Given the description of an element on the screen output the (x, y) to click on. 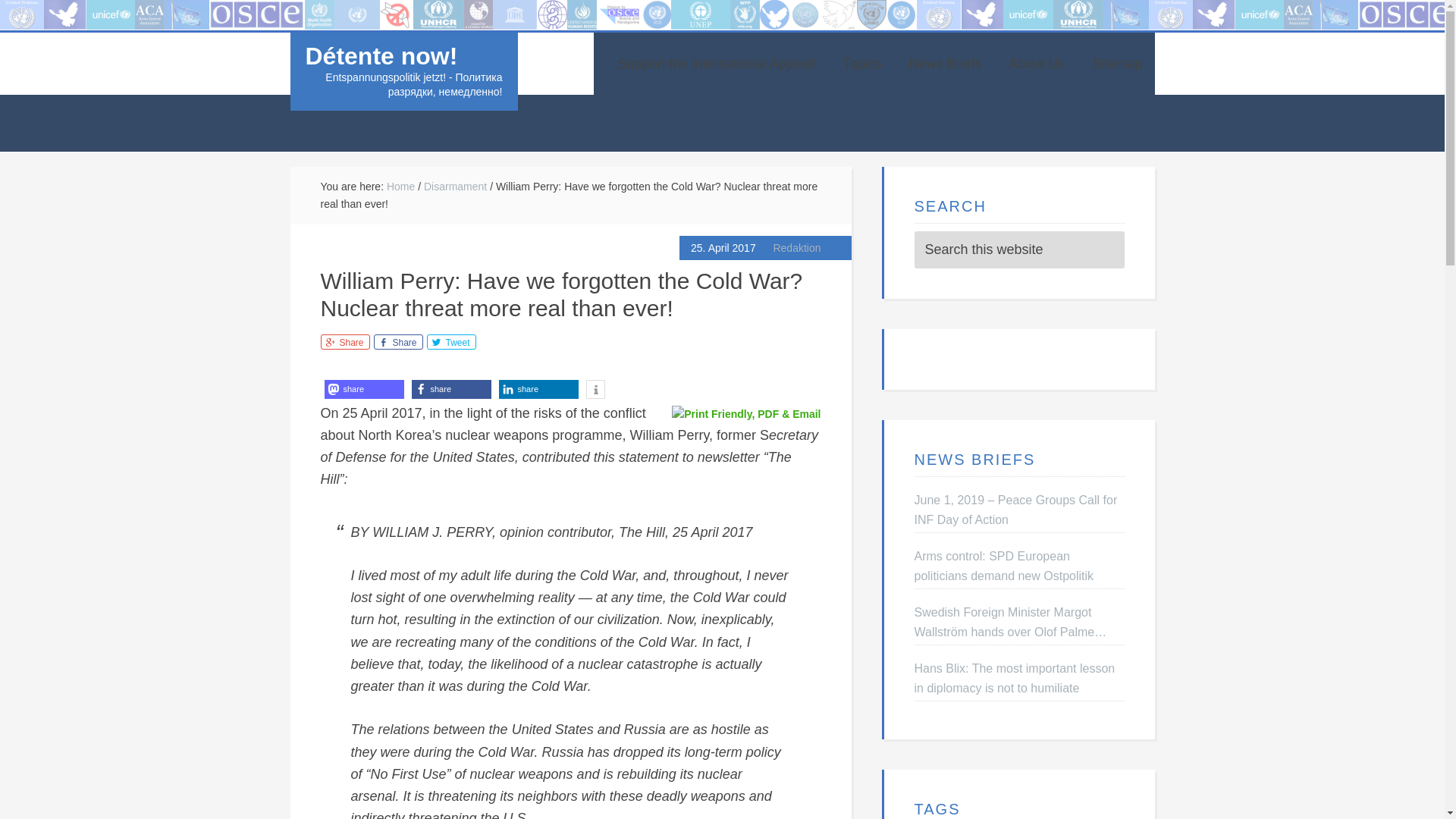
Share (344, 341)
More information (594, 388)
share  (450, 388)
Share (397, 341)
Support the international Appeal! (716, 63)
Startseite (29, 10)
Share on LinkedIn (538, 388)
Home (400, 186)
About Us (1037, 63)
Topics (862, 63)
share  (364, 388)
Tweet (451, 341)
Sitemap (1117, 63)
